Given the description of an element on the screen output the (x, y) to click on. 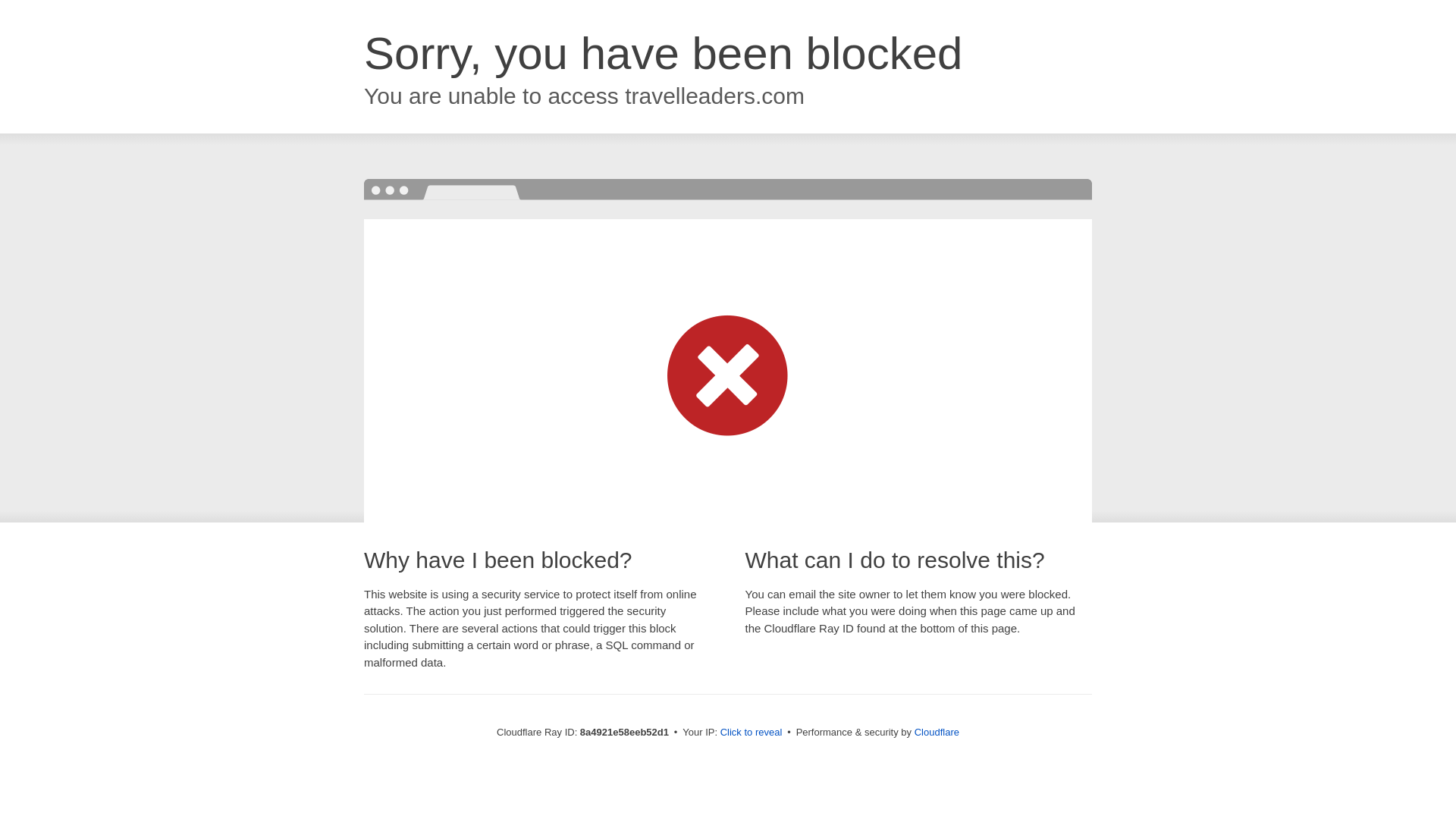
Click to reveal (751, 732)
Cloudflare (936, 731)
